Given the description of an element on the screen output the (x, y) to click on. 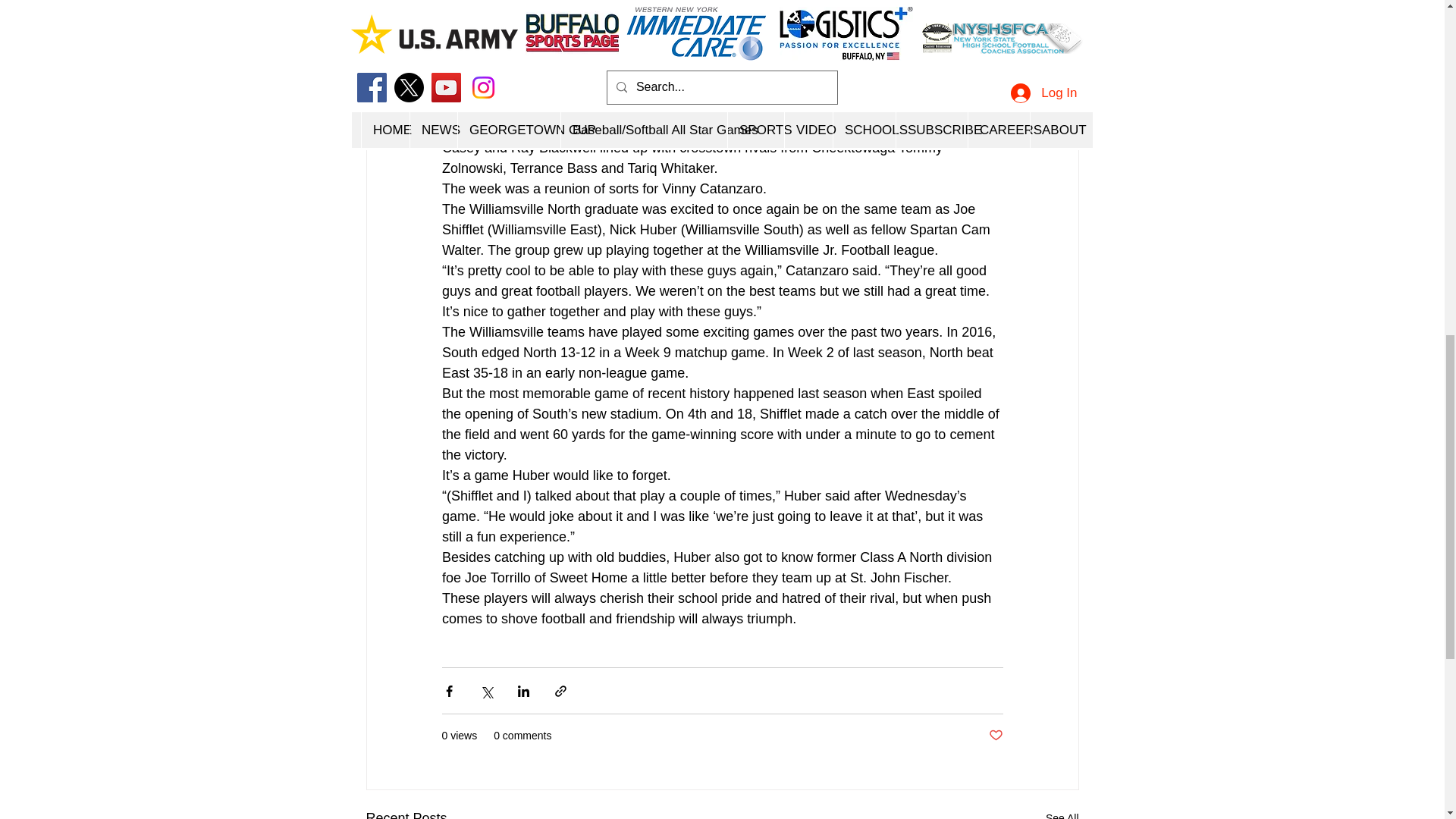
Post not marked as liked (995, 735)
See All (1061, 813)
